Given the description of an element on the screen output the (x, y) to click on. 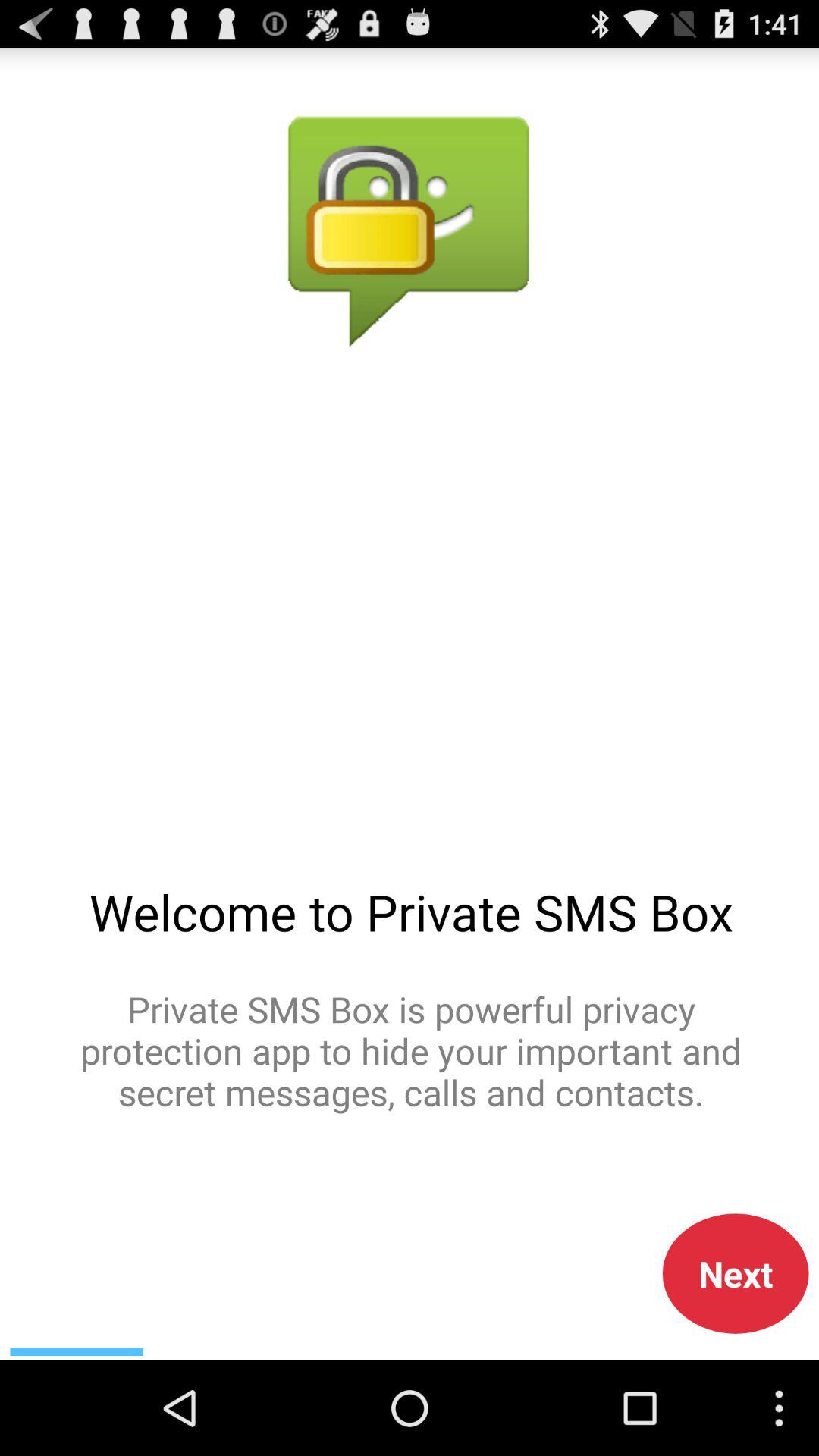
open item below private sms box (735, 1273)
